Given the description of an element on the screen output the (x, y) to click on. 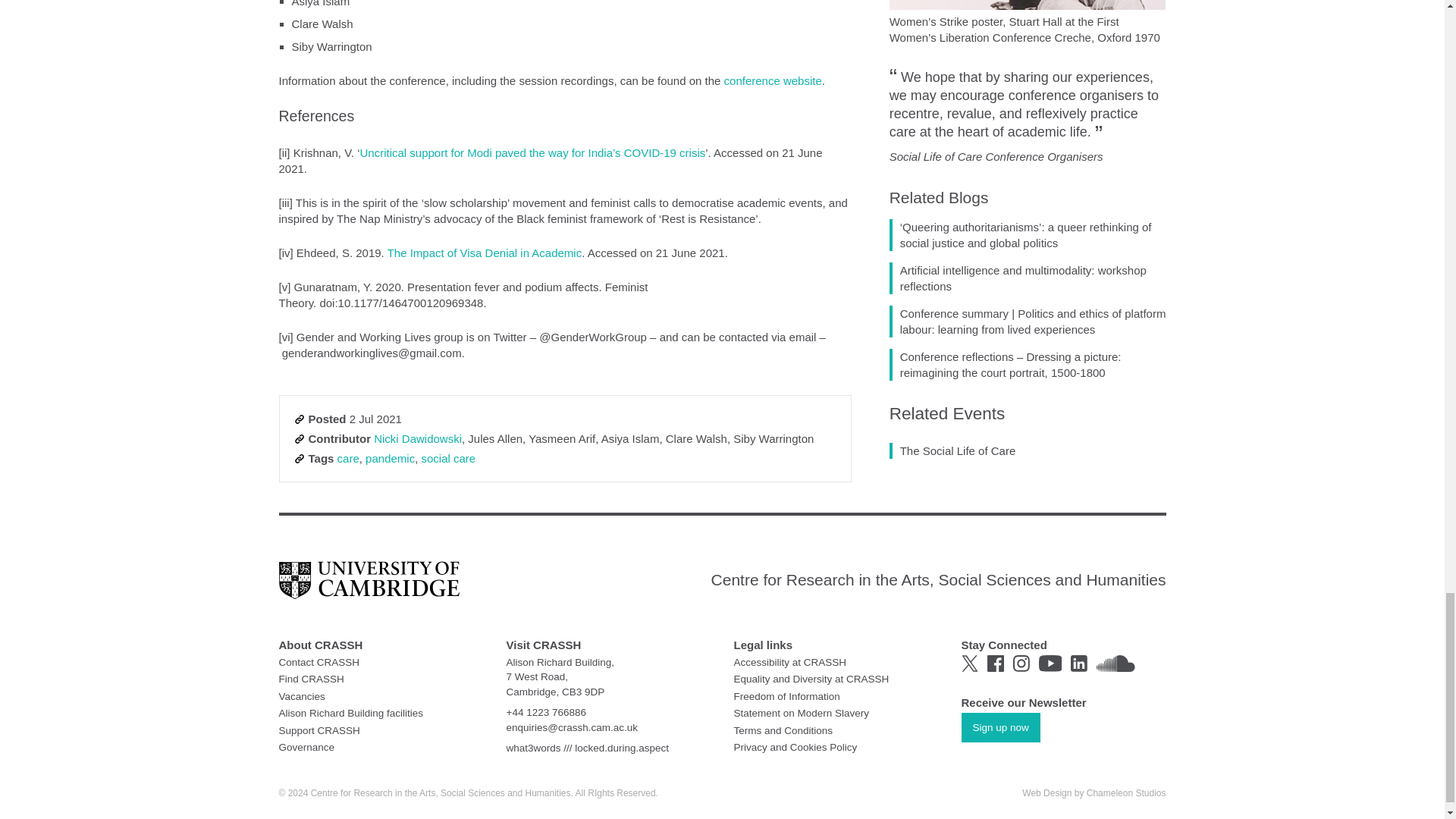
Find CRASSH (311, 678)
Contact CRASSH (319, 662)
Support CRASSH (319, 730)
care (348, 458)
Nicki Dawidowski (417, 438)
Alison Richard Building facilities (351, 713)
pandemic (389, 458)
social care (449, 458)
The Impact of Visa Denial in Academic (484, 252)
Vacancies (301, 696)
conference website (772, 80)
